Given the description of an element on the screen output the (x, y) to click on. 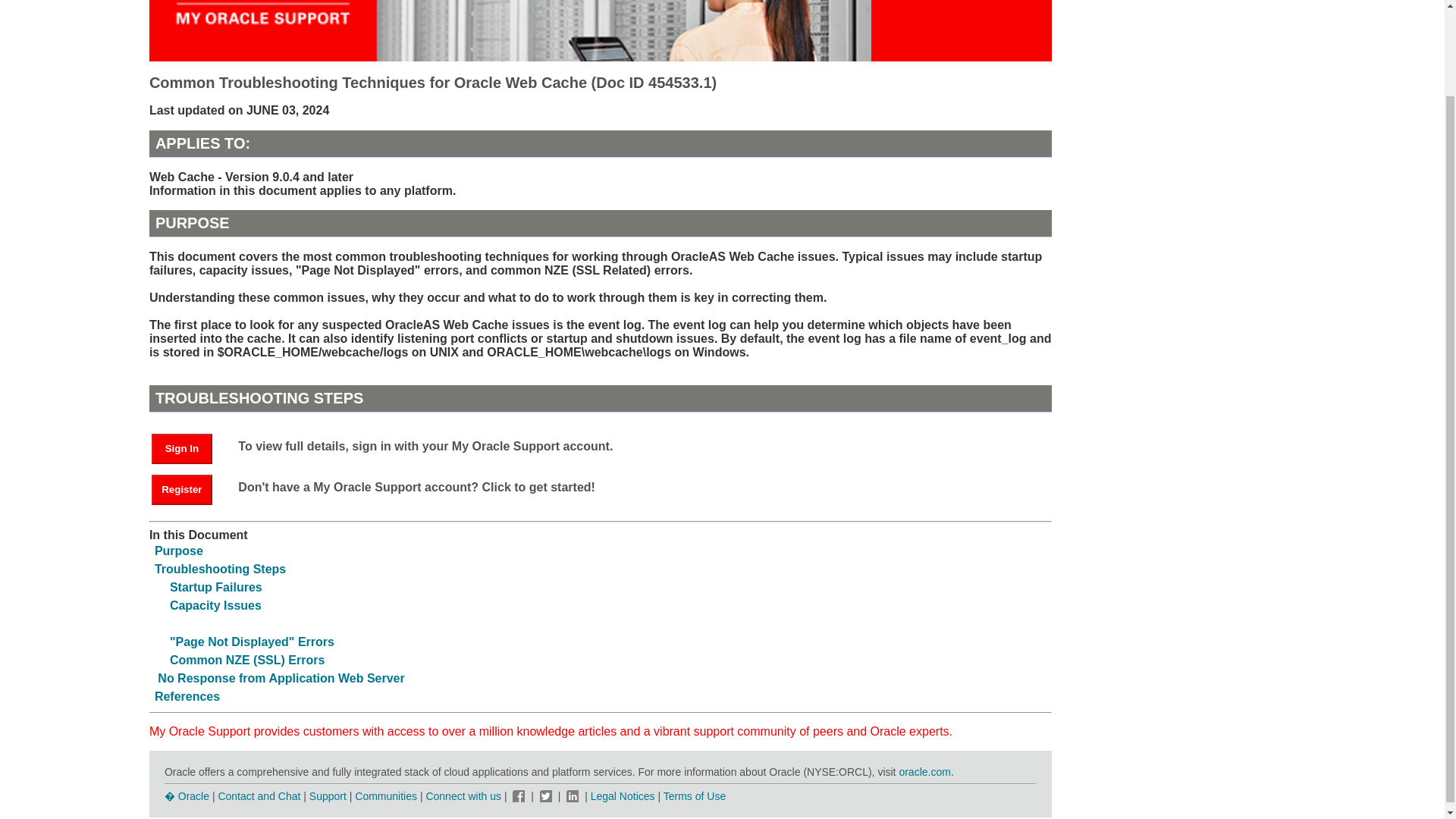
Startup Failures (216, 586)
oracle.com (924, 771)
oracle.com (924, 771)
Sign In (181, 449)
Troubleshooting Steps (219, 568)
No Response from Application Web Server (280, 677)
References (186, 696)
Communities (385, 796)
Contact and Chat (257, 796)
Sign In (189, 447)
Capacity Issues (216, 604)
Register (189, 488)
Legal Notices (623, 796)
Support (327, 796)
Purpose (178, 550)
